Given the description of an element on the screen output the (x, y) to click on. 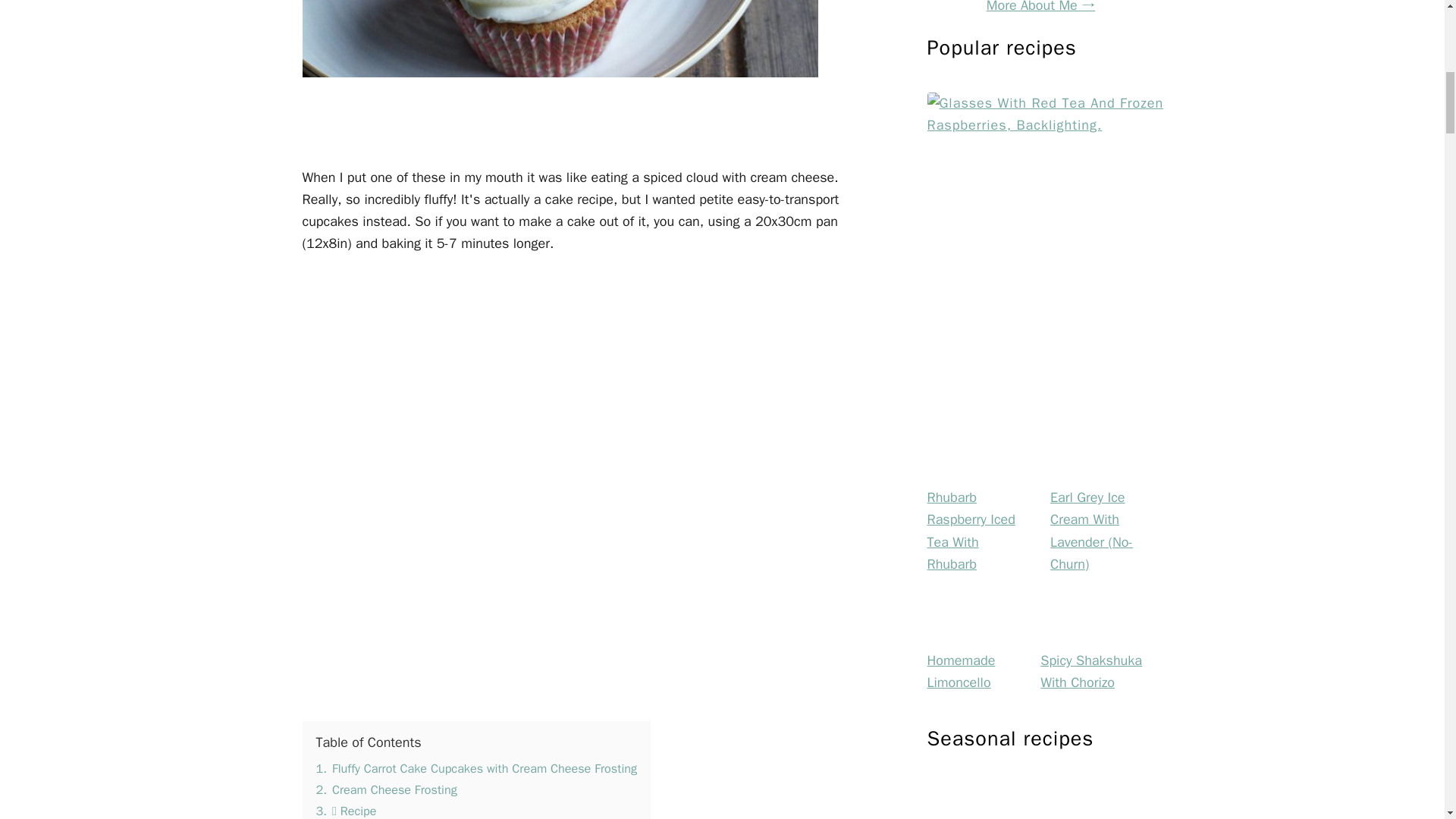
2. Cream Cheese Frosting (386, 789)
1. Fluffy Carrot Cake Cupcakes with Cream Cheese Frosting (476, 768)
